Given the description of an element on the screen output the (x, y) to click on. 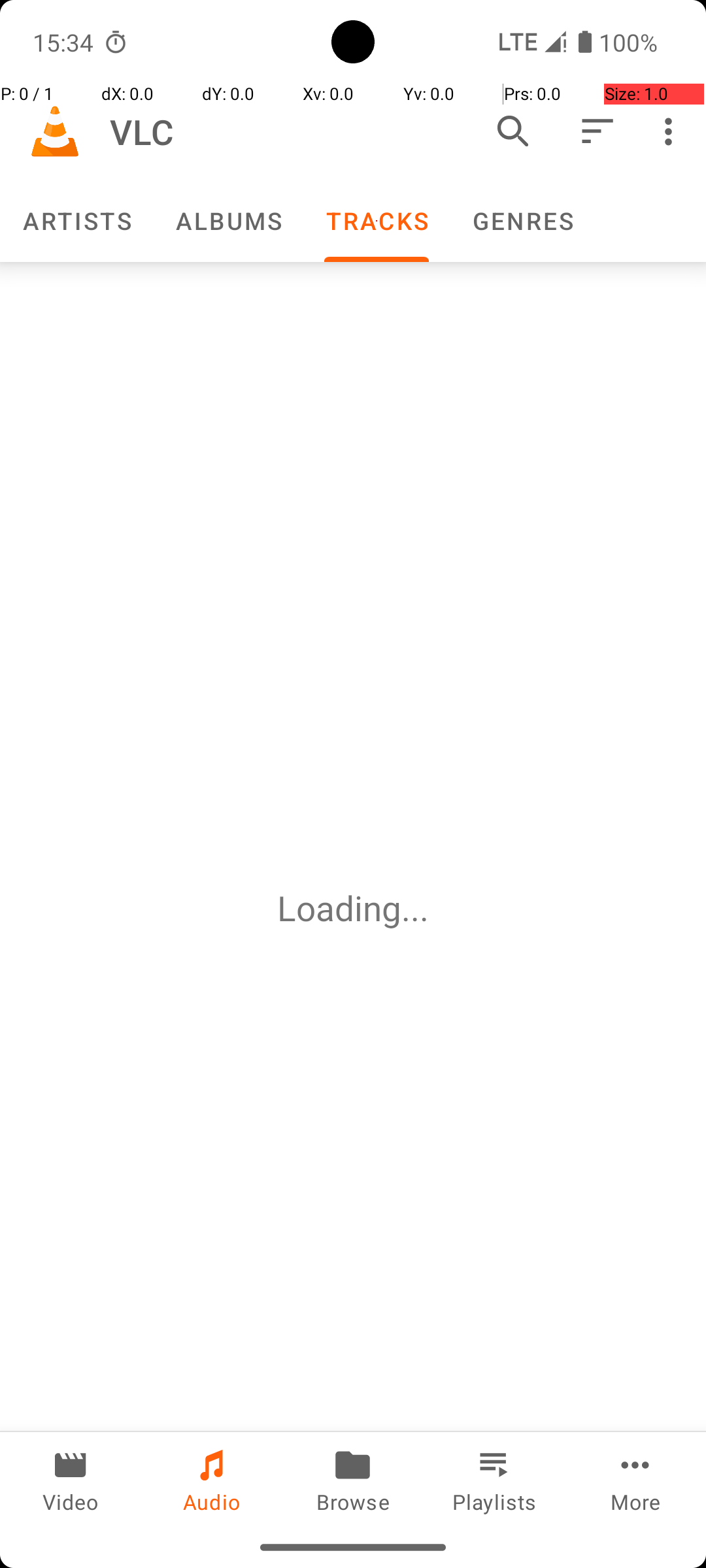
... Element type: android.widget.TextView (414, 907)
